Given the description of an element on the screen output the (x, y) to click on. 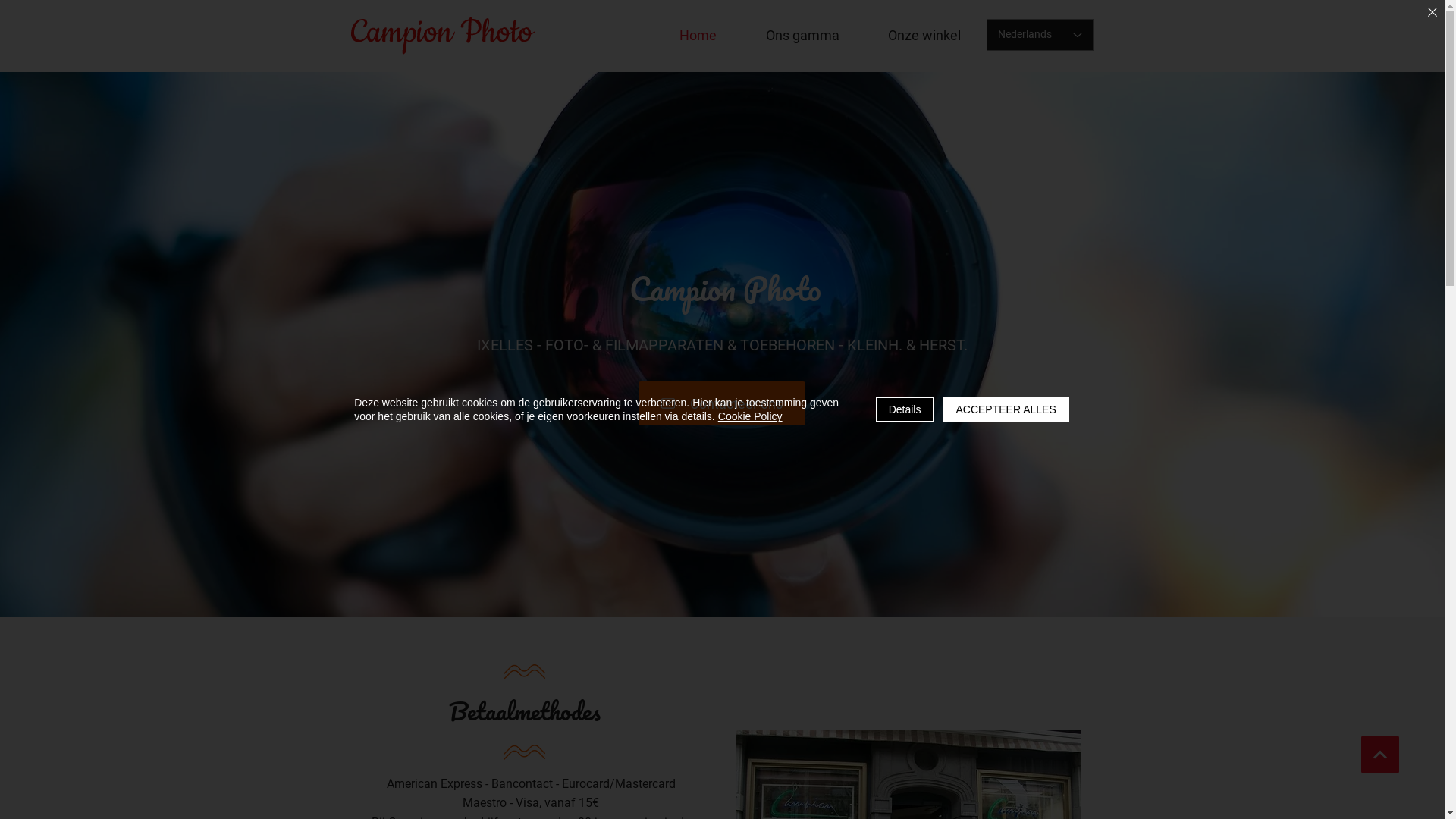
Cookie Policy Element type: text (750, 416)
Onze winkel Element type: text (924, 34)
Contacteer ons Element type: text (721, 403)
Home Element type: text (698, 34)
Ons gamma Element type: text (801, 34)
ACCEPTEER ALLES Element type: text (1005, 409)
Details Element type: text (904, 409)
